Given the description of an element on the screen output the (x, y) to click on. 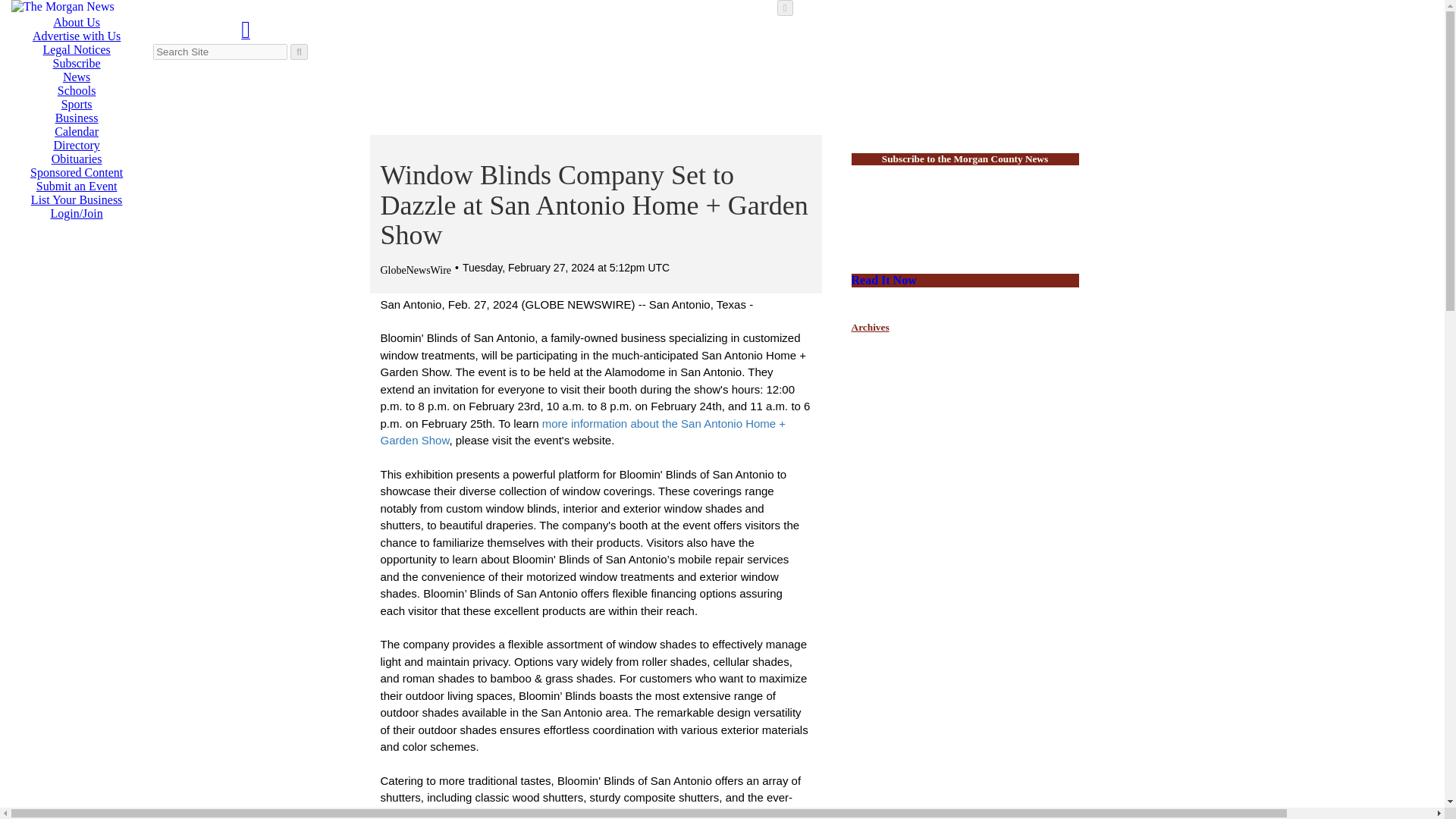
News (76, 76)
Obituaries (188, 174)
Read It Now (964, 280)
Obituaries (75, 158)
Subscribe (76, 62)
Directory (75, 144)
Tuesday, February 27, 2024 at 5:12pm UTC (564, 267)
Search (298, 51)
Submit an Event (76, 185)
Calendar (77, 131)
Business (188, 129)
Schools (188, 98)
Legal Notices (76, 49)
Sponsored Content (76, 172)
News (189, 83)
